Given the description of an element on the screen output the (x, y) to click on. 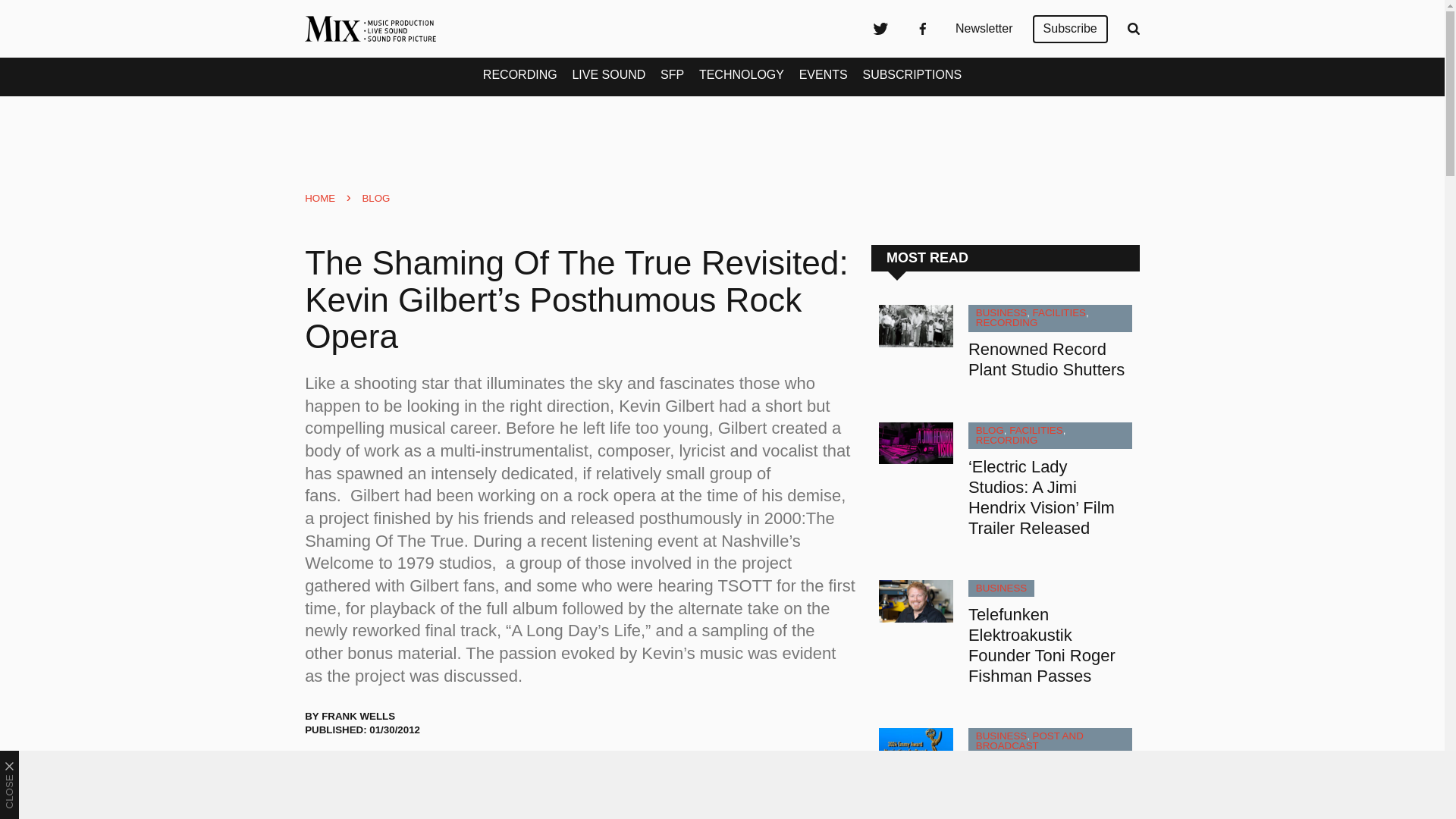
Share on LinkedIn (399, 771)
Share on Twitter (323, 771)
Share via Email (438, 771)
Share on Facebook (361, 771)
